Given the description of an element on the screen output the (x, y) to click on. 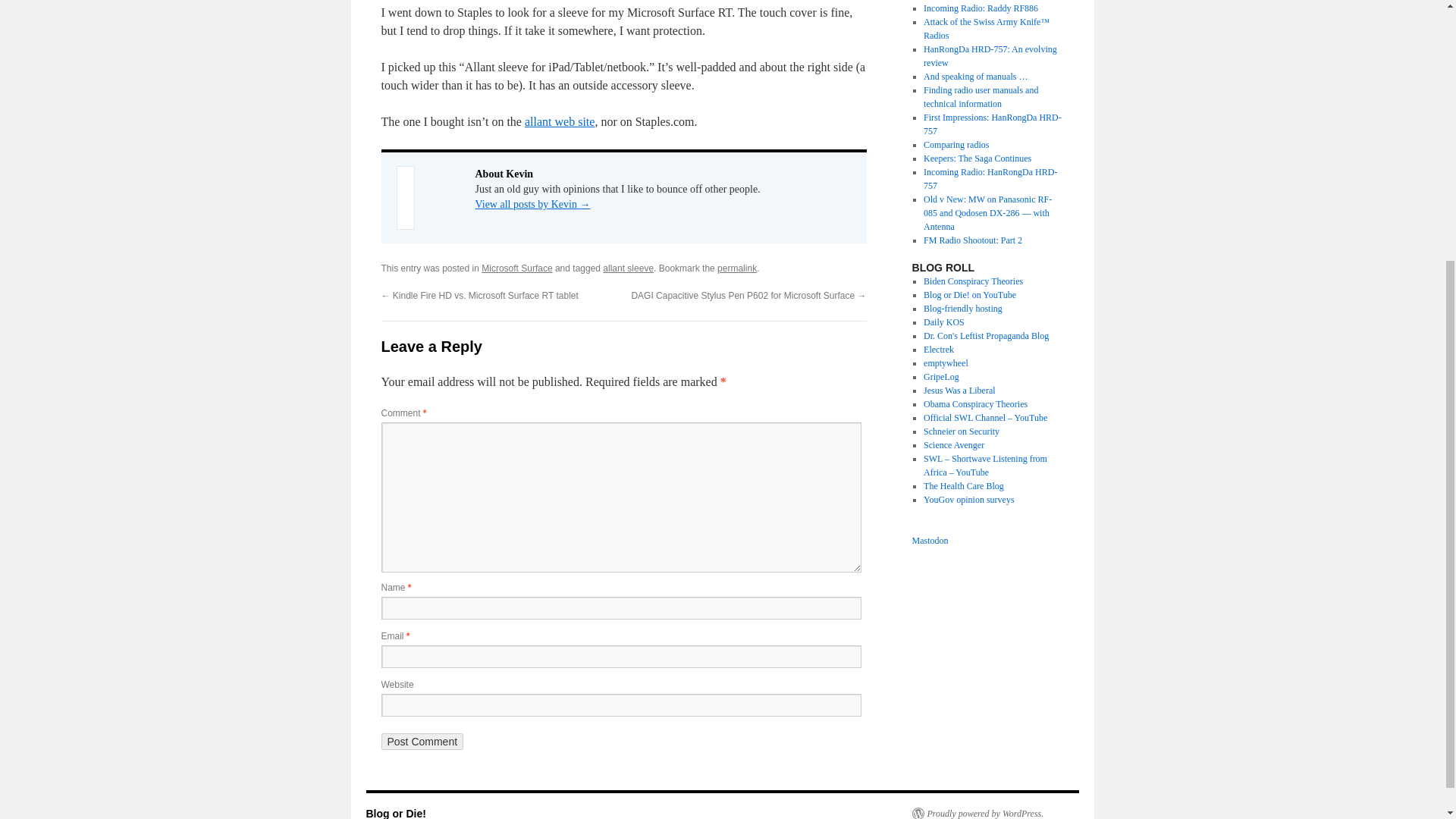
Finding radio user manuals and technical information (980, 96)
allant sleeve (627, 267)
Incoming Radio: HanRongDa HRD-757 (990, 178)
Progressive commentary (985, 335)
Shortwave listen from South Africa, radio comparisons (984, 465)
Post Comment (421, 741)
Fighting for science and reason in a faith-based world (953, 444)
Videos  about Radios and Shortwave listening (984, 417)
Where Bat Shirt Crazy Meets the Real World (973, 281)
Permalink to Allant case for Microsoft Surface (737, 267)
